Given the description of an element on the screen output the (x, y) to click on. 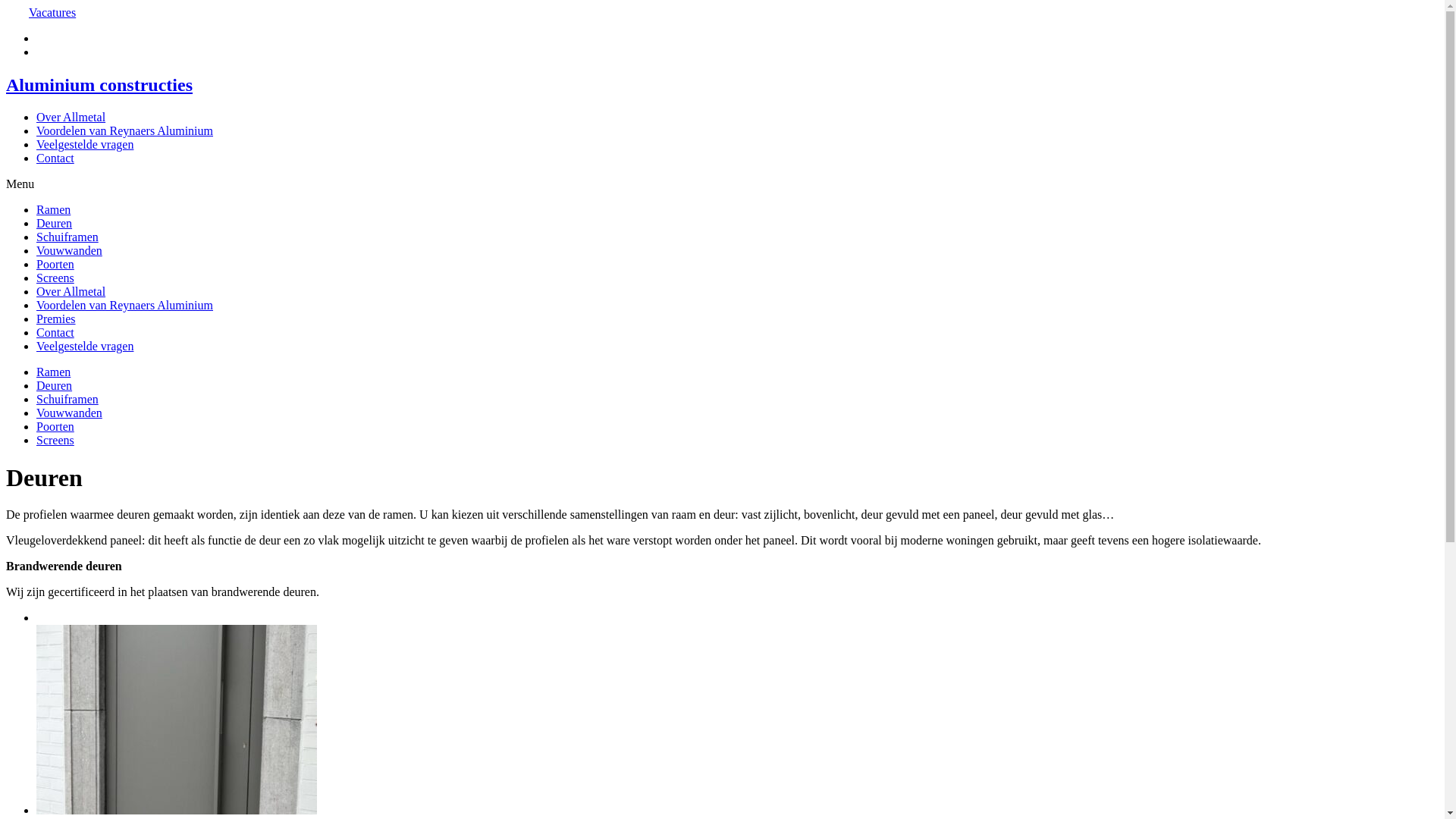
Veelgestelde vragen Element type: text (84, 144)
Over Allmetal Element type: text (70, 116)
Vouwwanden Element type: text (69, 412)
Deuren Element type: text (54, 385)
Poorten Element type: text (55, 426)
Deuren Element type: text (54, 222)
Screens Element type: text (55, 439)
Aluminium constructies Element type: text (722, 85)
Schuiframen Element type: text (67, 398)
Menu Element type: text (20, 183)
Voordelen van Reynaers Aluminium Element type: text (124, 304)
Poorten Element type: text (55, 263)
Contact Element type: text (55, 157)
Voordelen van Reynaers Aluminium Element type: text (124, 130)
Vacatures Element type: text (51, 12)
Vlakke vleugeloverdekkende deur -Masterline 8  Element type: hover (176, 809)
Ramen Element type: text (53, 209)
Contact Element type: text (55, 332)
Veelgestelde vragen Element type: text (84, 345)
Screens Element type: text (55, 277)
Premies Element type: text (55, 318)
Schuiframen Element type: text (67, 236)
Vouwwanden Element type: text (69, 250)
Ramen Element type: text (53, 371)
Over Allmetal Element type: text (70, 291)
